Given the description of an element on the screen output the (x, y) to click on. 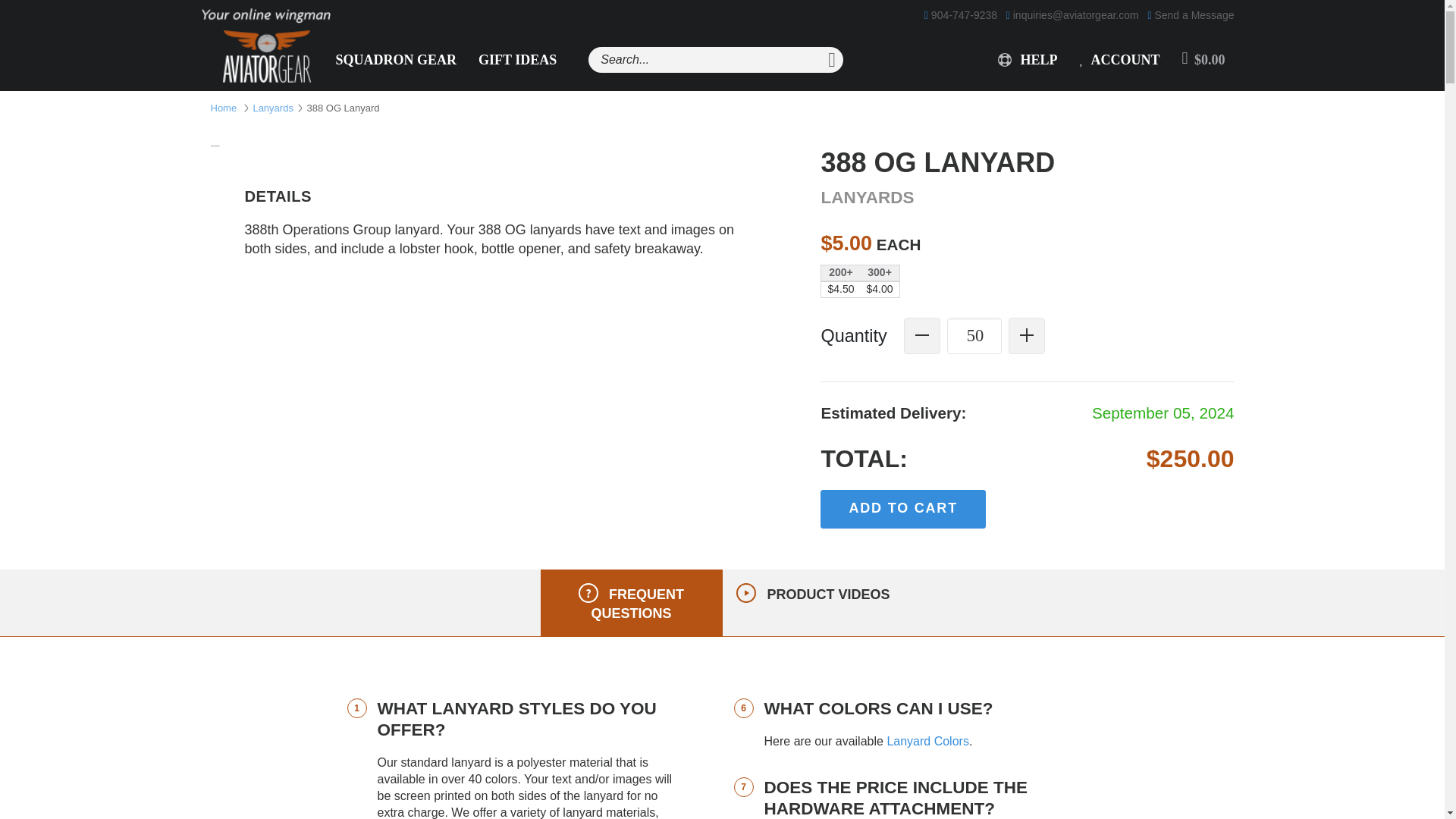
50 (974, 335)
Submit Search (831, 59)
Increase quantity (1027, 335)
Send a Message (1190, 15)
Decrease quantity (922, 335)
Lanyards (271, 107)
904-747-9238 (960, 15)
 HELP (1027, 60)
GIFT IDEAS (517, 60)
SQUADRON GEAR (395, 60)
